Given the description of an element on the screen output the (x, y) to click on. 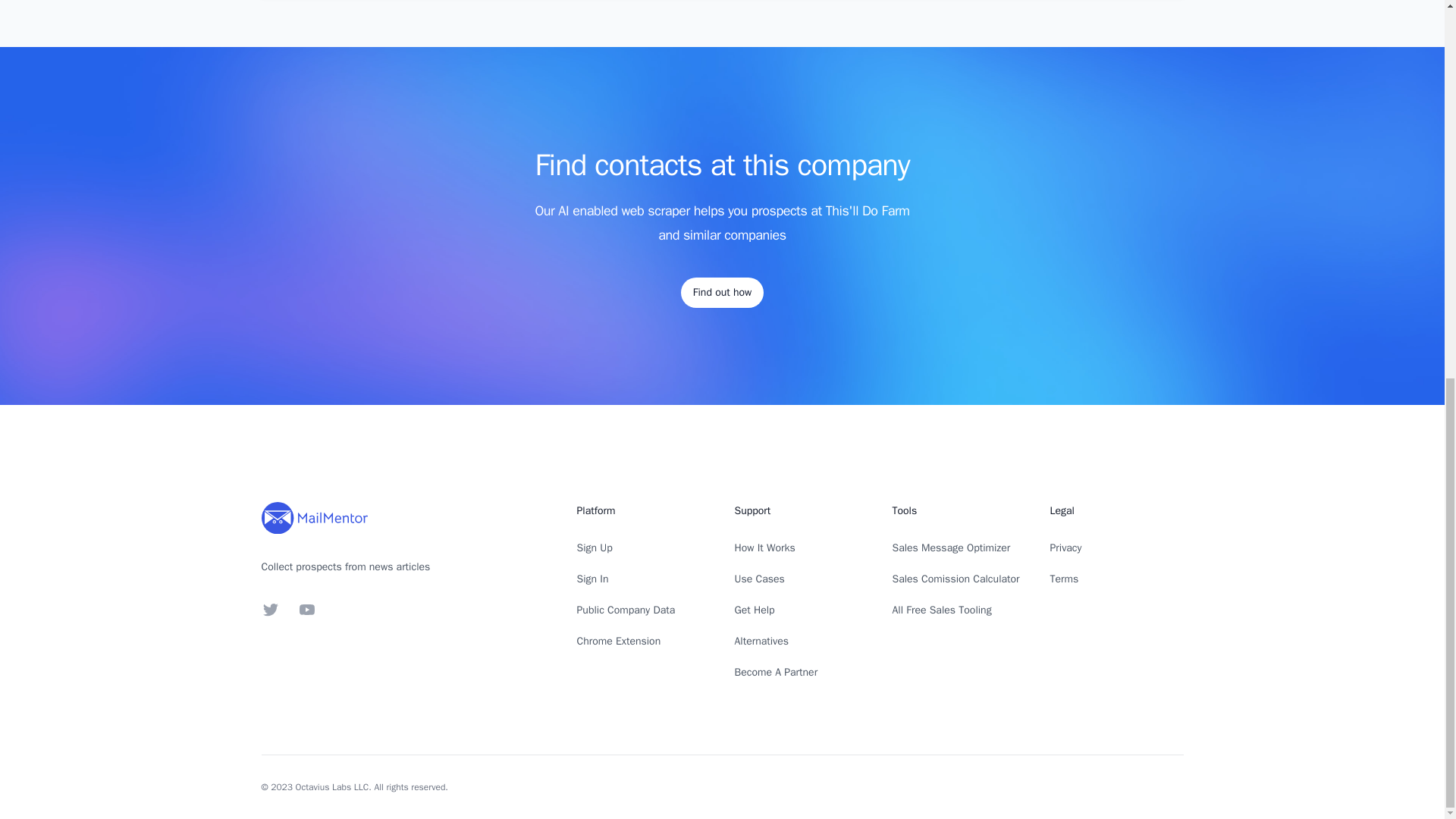
Terms (1063, 578)
Use Cases (758, 578)
Twitter (269, 609)
Privacy (1065, 547)
Chrome Extension (618, 640)
Get Help (753, 609)
How It Works (763, 547)
Become A Partner (774, 671)
Sales Comission Calculator (955, 578)
Alternatives (761, 640)
